Given the description of an element on the screen output the (x, y) to click on. 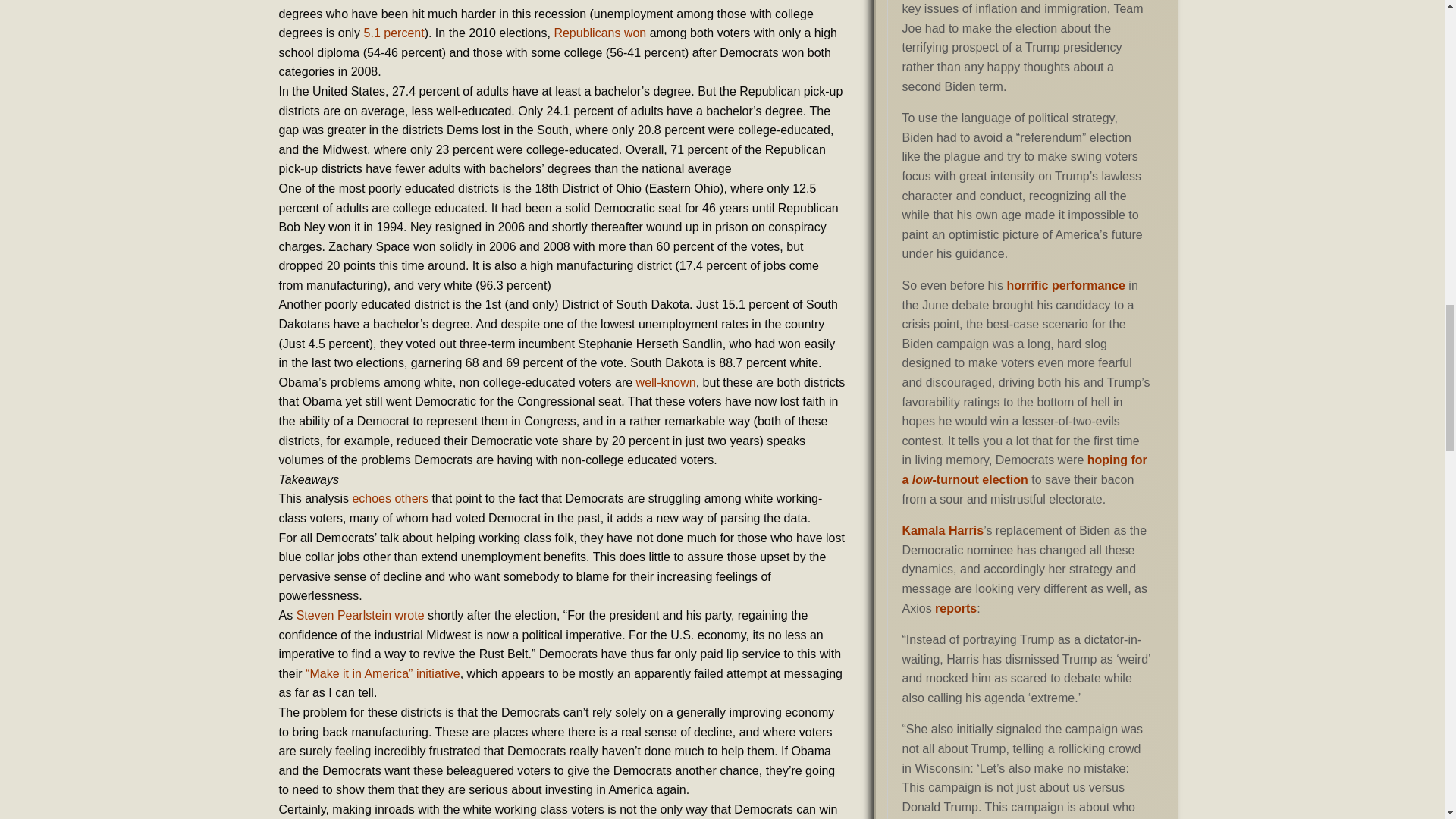
5.1 percent (394, 32)
Steven Pearlstein wrote (361, 615)
well-known (665, 382)
Republicans won (599, 32)
echoes others (390, 498)
